Given the description of an element on the screen output the (x, y) to click on. 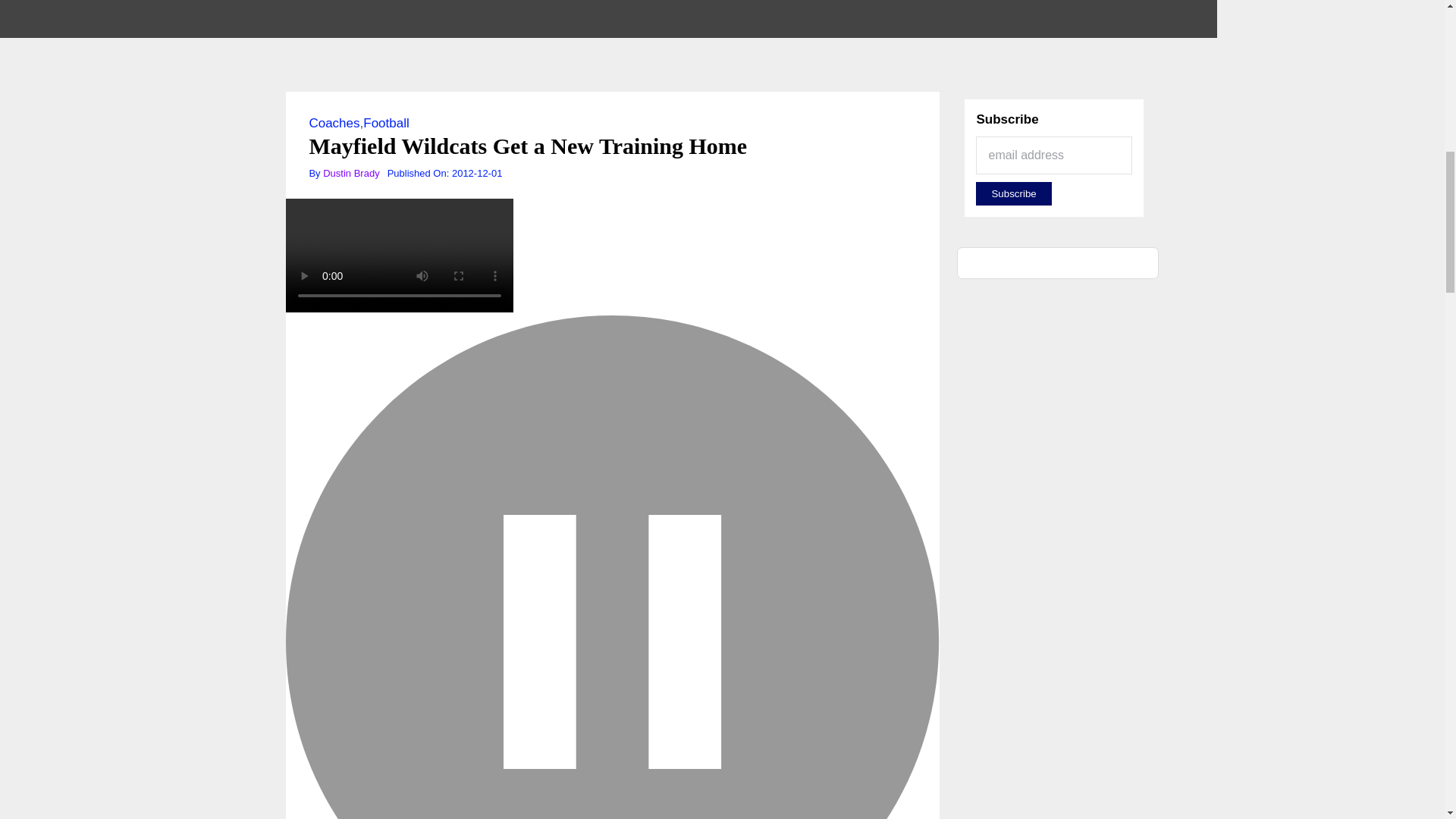
Coaches (333, 123)
Football (385, 123)
Subscribe (1013, 193)
Posts by Dustin Brady (350, 173)
